Given the description of an element on the screen output the (x, y) to click on. 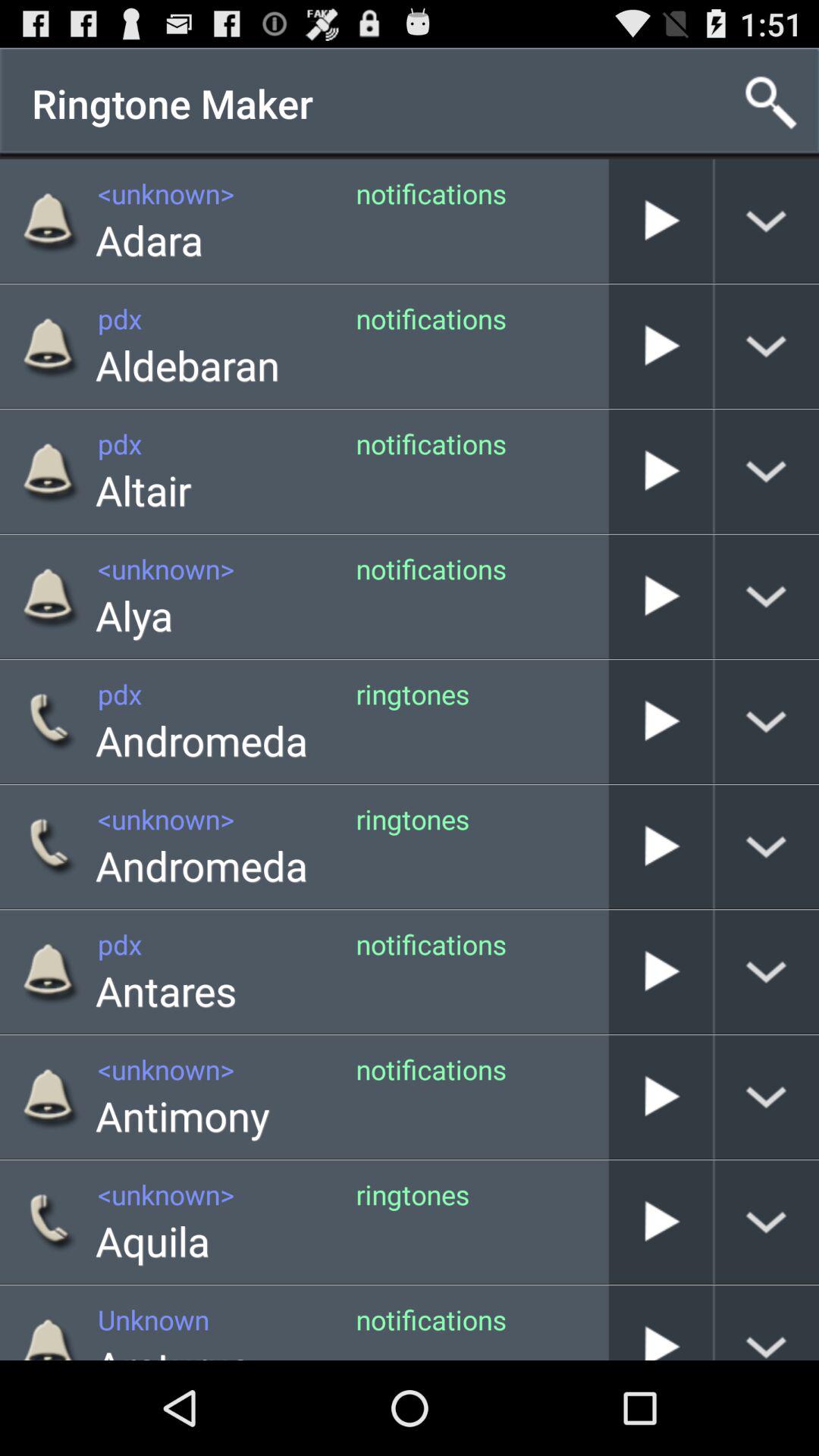
play (660, 1097)
